Given the description of an element on the screen output the (x, y) to click on. 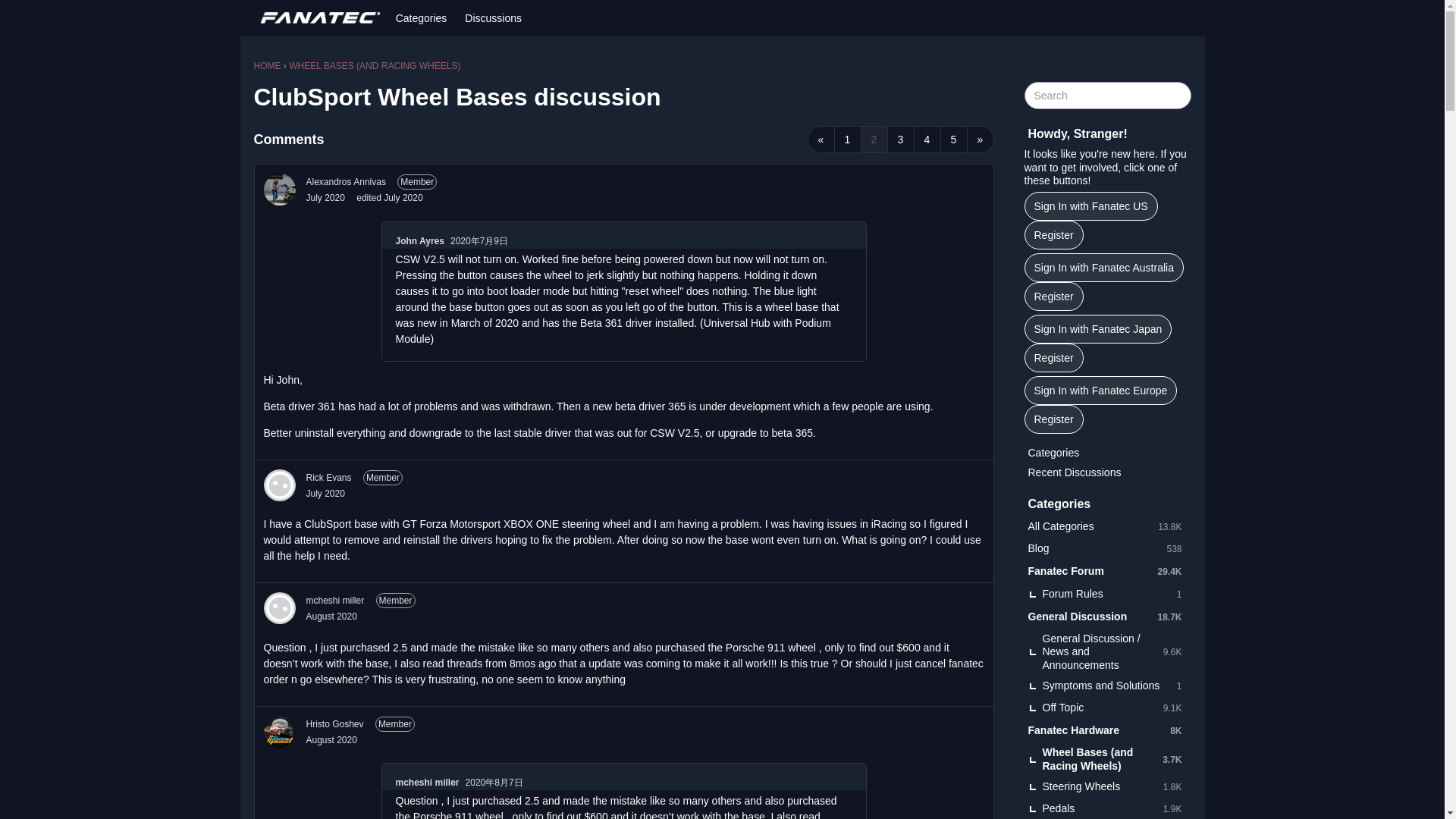
August 7, 2020 9:02AM (330, 739)
Discussions (493, 17)
John Ayres (420, 241)
July 2020 (325, 197)
mcheshi miller (428, 782)
5 (954, 139)
Hristo Goshev (334, 724)
4 (926, 139)
2 (873, 139)
3 (900, 139)
